Given the description of an element on the screen output the (x, y) to click on. 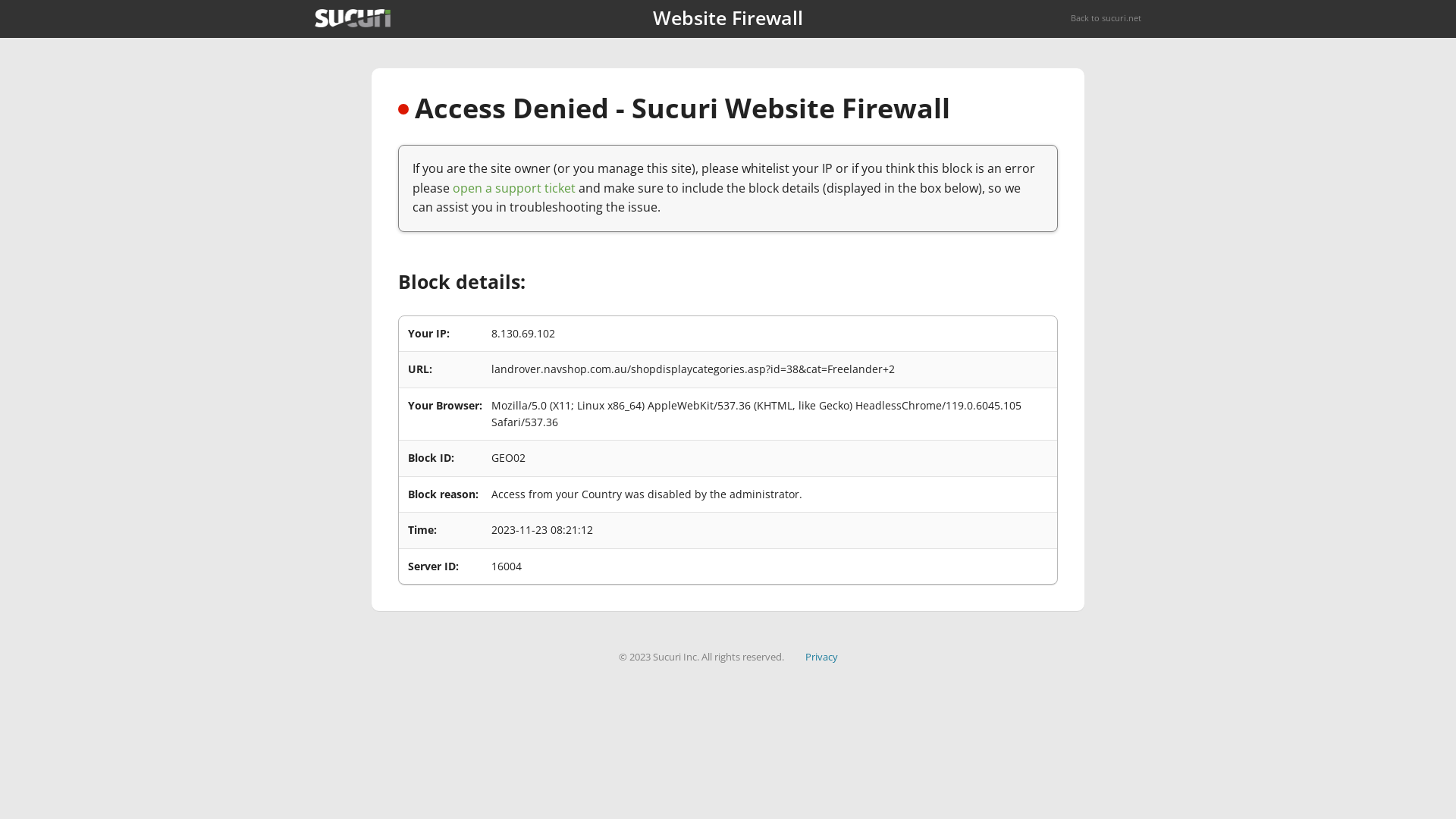
open a support ticket Element type: text (513, 187)
Back to sucuri.net Element type: text (1105, 18)
Privacy Element type: text (821, 656)
